Given the description of an element on the screen output the (x, y) to click on. 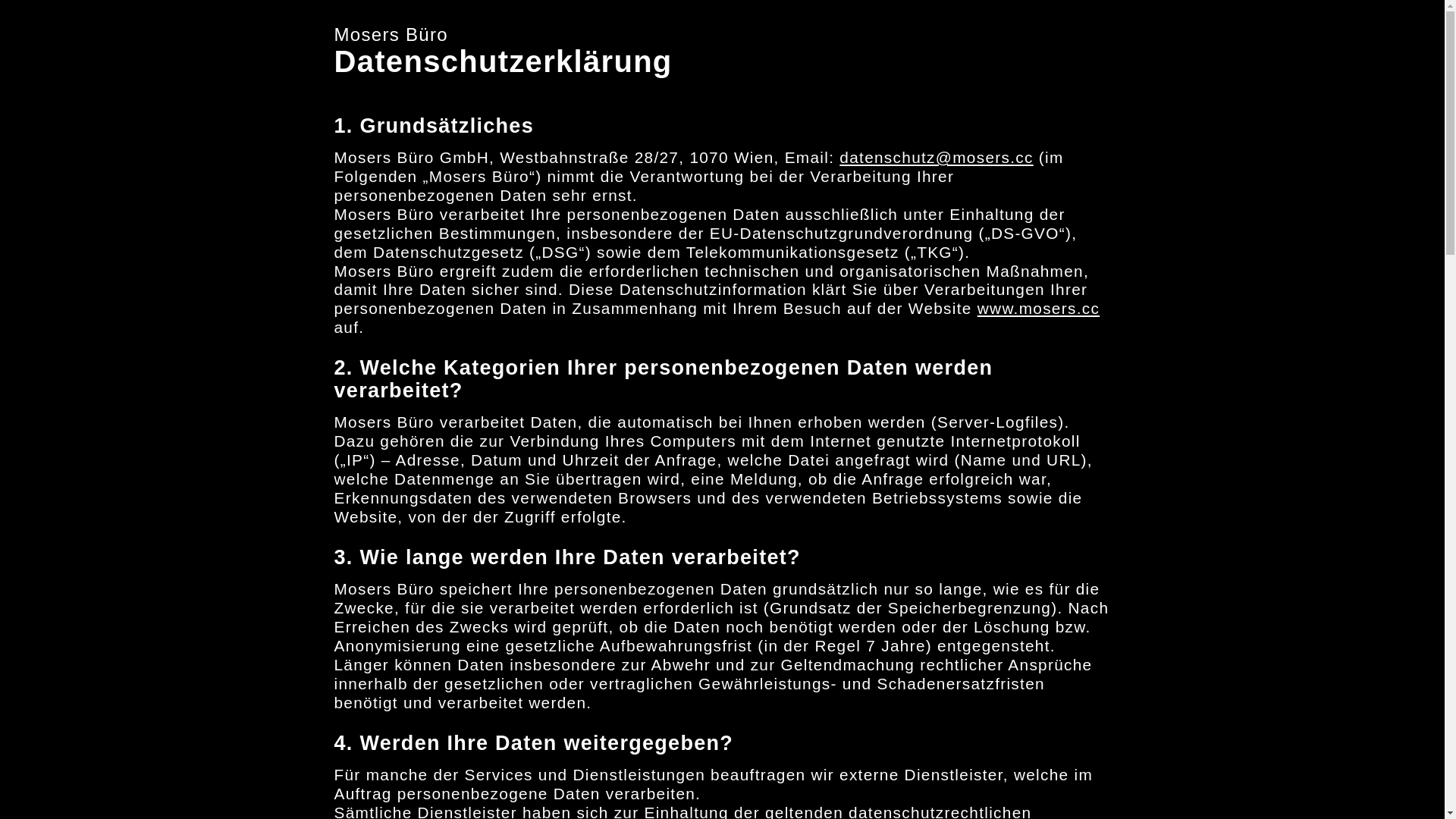
datenschutz@mosers.cc Element type: text (935, 157)
www.mosers.cc Element type: text (1038, 307)
